Given the description of an element on the screen output the (x, y) to click on. 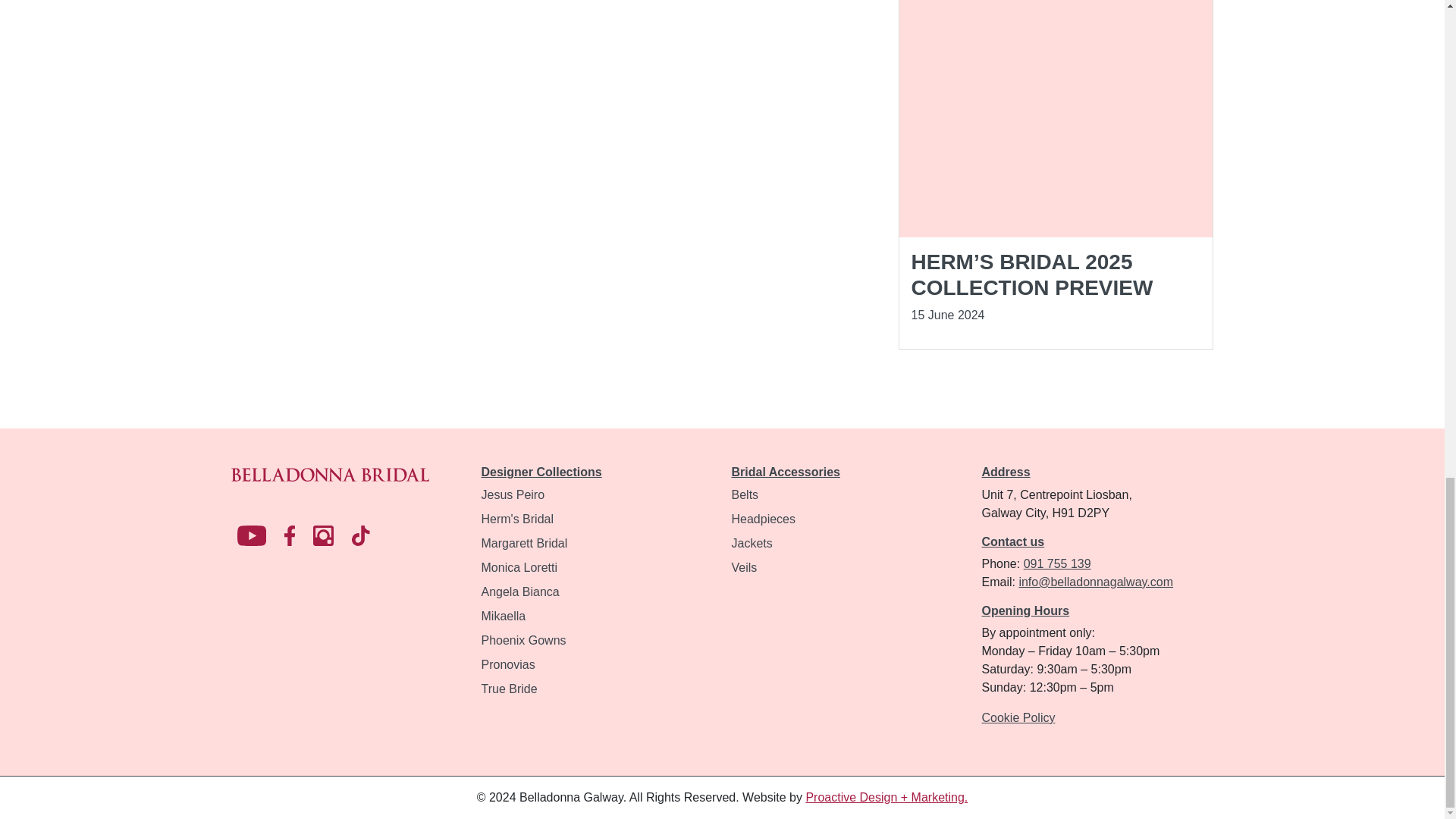
Angela Bianca (519, 591)
Mikaella (502, 615)
Visit Belladonna Bridal Youtube (250, 535)
Margarett Bridal (523, 543)
Pronovias (507, 664)
Visit Belladonna Bridal TikTok (360, 535)
Herm's Bridal (516, 518)
Phoenix Gowns (523, 640)
Jesus Peiro (512, 494)
Monica Loretti (518, 567)
